Given the description of an element on the screen output the (x, y) to click on. 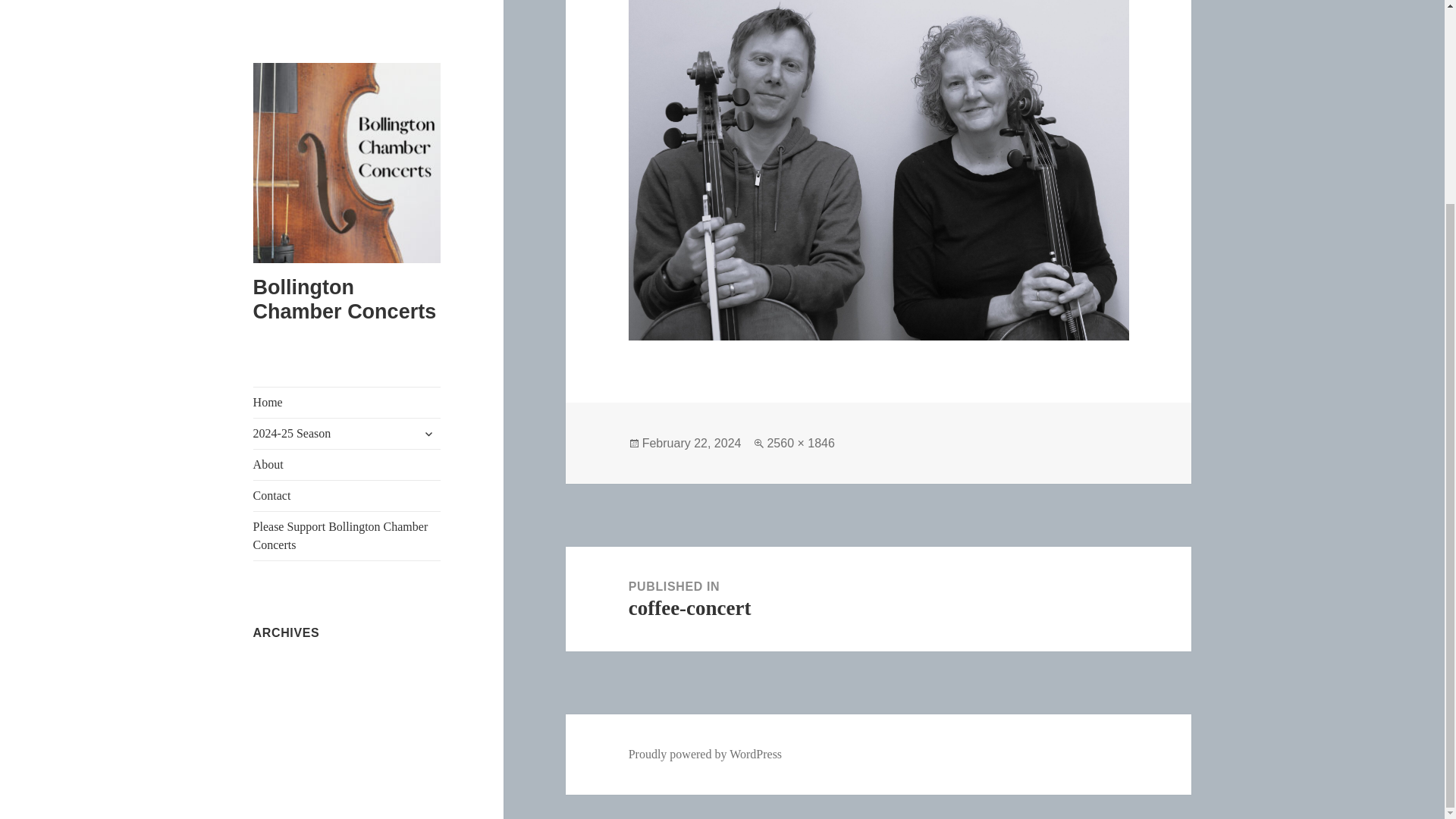
expand child menu (428, 172)
February 22, 2024 (691, 443)
Proudly powered by WordPress (704, 754)
Home (878, 599)
2024-25 Season (347, 141)
Contact (347, 173)
About (347, 235)
Bollington Chamber Concerts (347, 204)
Please Support Bollington Chamber Concerts (344, 38)
